Given the description of an element on the screen output the (x, y) to click on. 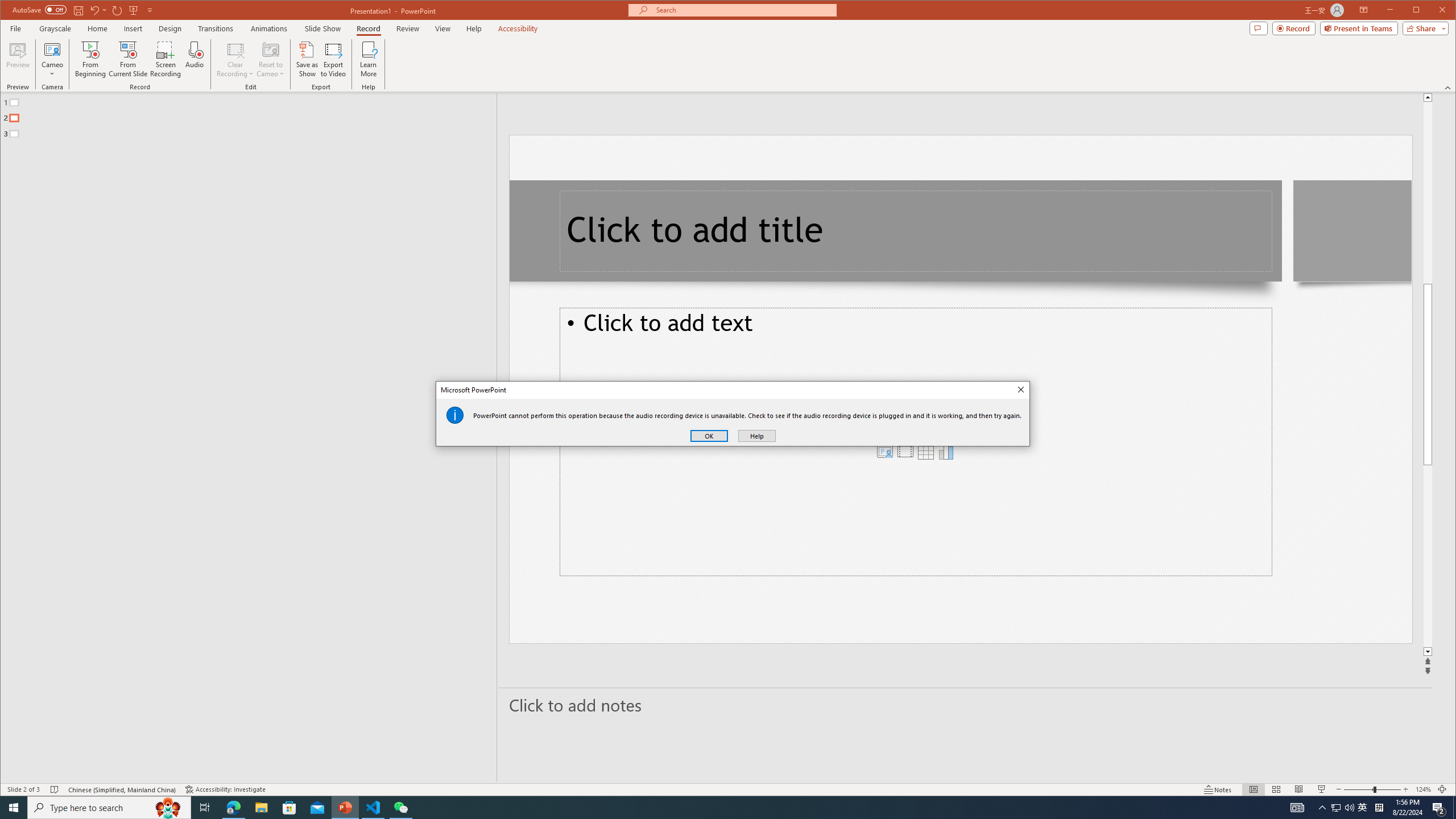
WeChat - 1 running window (400, 807)
